Given the description of an element on the screen output the (x, y) to click on. 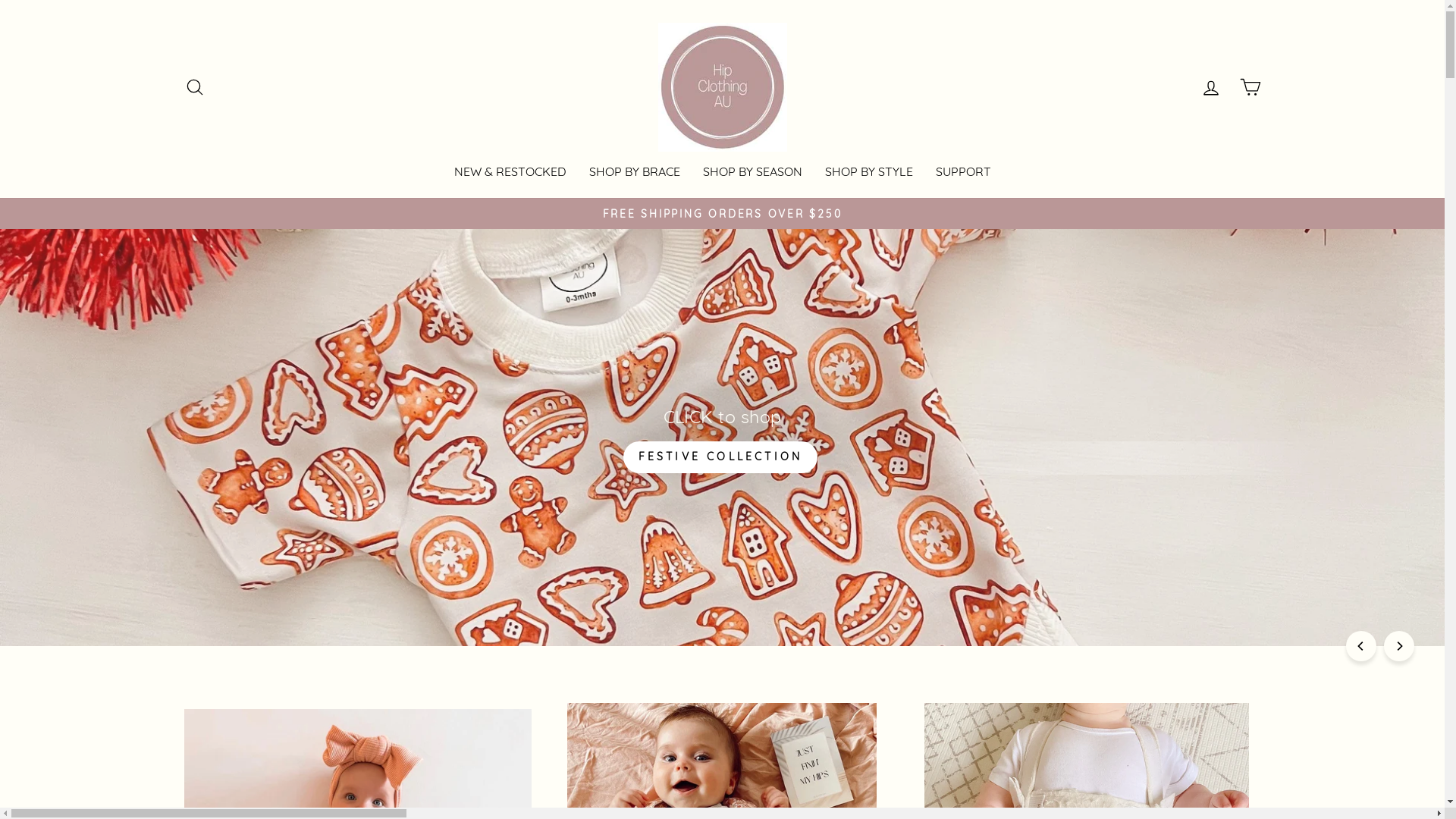
NEW & RESTOCKED Element type: text (509, 170)
CART Element type: text (1249, 87)
FREE SHIPPING ORDERS OVER $250 Element type: text (722, 213)
SEARCH Element type: text (193, 87)
SHOP BY BRACE Element type: text (634, 170)
SHOP BY SEASON Element type: text (752, 170)
Skip to content Element type: text (0, 0)
LOG IN Element type: text (1210, 87)
SUPPORT Element type: text (962, 170)
SHOP BY STYLE Element type: text (867, 170)
